Given the description of an element on the screen output the (x, y) to click on. 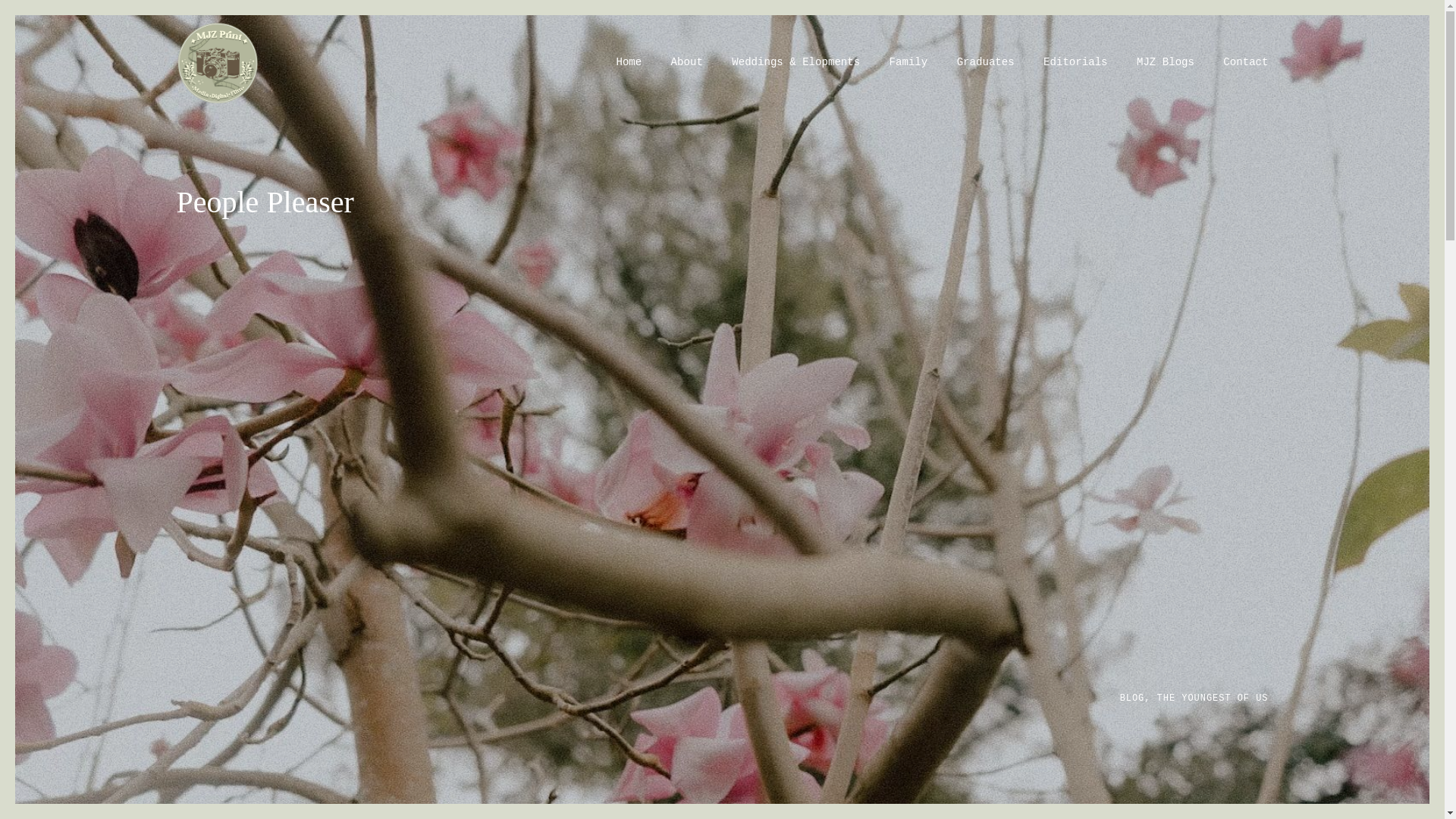
Contact (1245, 61)
Graduates (984, 61)
THE YOUNGEST OF US (1212, 697)
BLOG, (1138, 697)
Home (628, 61)
About (686, 61)
MJZ Blogs (1165, 61)
Family (908, 61)
Editorials (1075, 61)
